Given the description of an element on the screen output the (x, y) to click on. 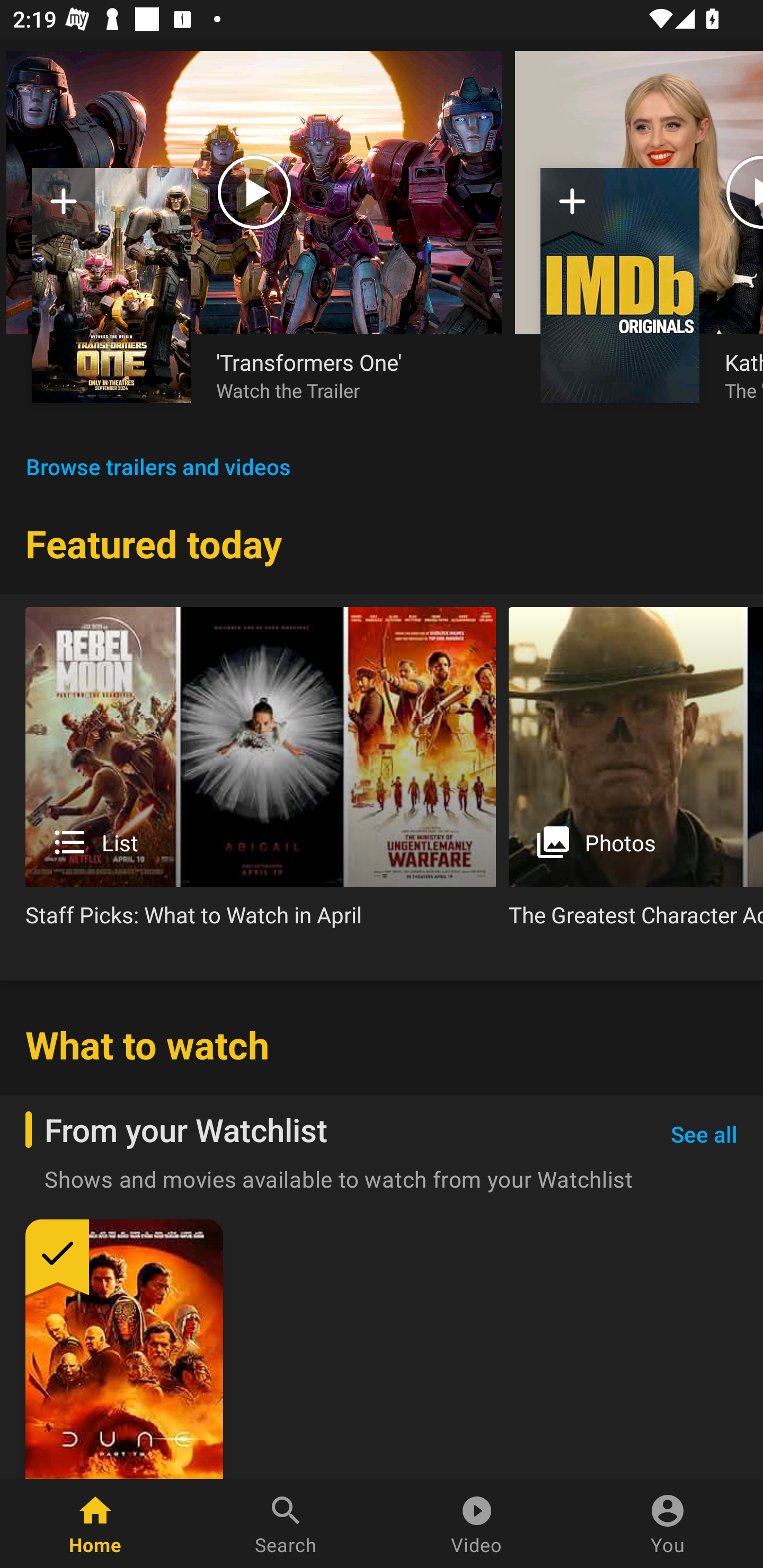
Not in watchlist (111, 284)
Not in watchlist (63, 207)
Not in watchlist (619, 284)
Not in watchlist (572, 207)
'Transformers One' Watch the Trailer (345, 374)
List Staff Picks: What to Watch in April (260, 774)
Photos The Greatest Character Actors of All Time (635, 774)
See all See all From your Watchlist (703, 1134)
Search (285, 1523)
Video (476, 1523)
You (667, 1523)
